Given the description of an element on the screen output the (x, y) to click on. 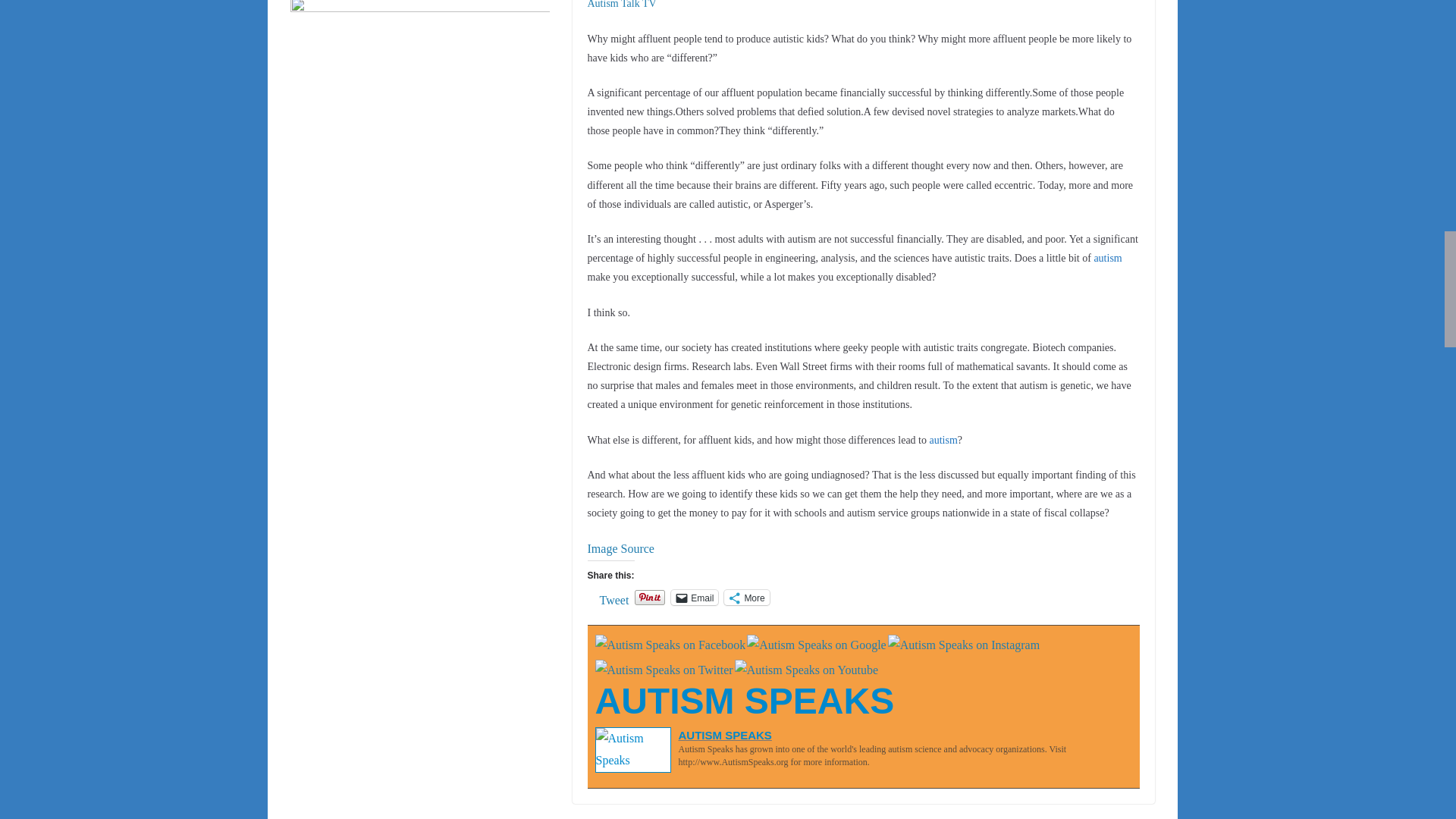
More (745, 597)
AUTISM SPEAKS (743, 700)
Autism and Adolescence (1107, 257)
Tweet (613, 596)
Autism Talk TV (621, 4)
Autism Speaks (743, 700)
autism (942, 439)
Image Source (619, 548)
Click to email a link to a friend (694, 597)
Autism and Adolescence (942, 439)
